Given the description of an element on the screen output the (x, y) to click on. 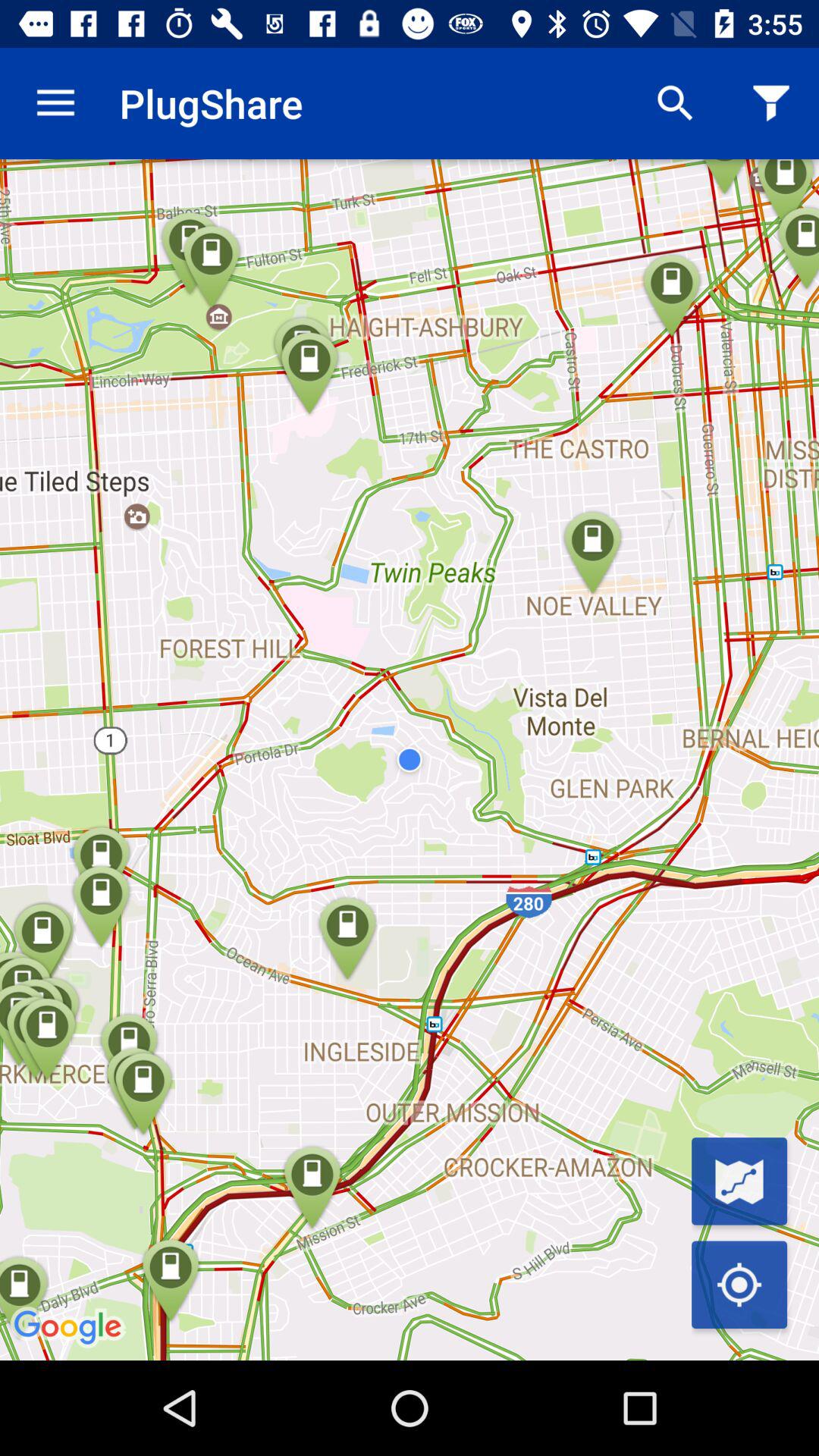
move map around (739, 1284)
